Given the description of an element on the screen output the (x, y) to click on. 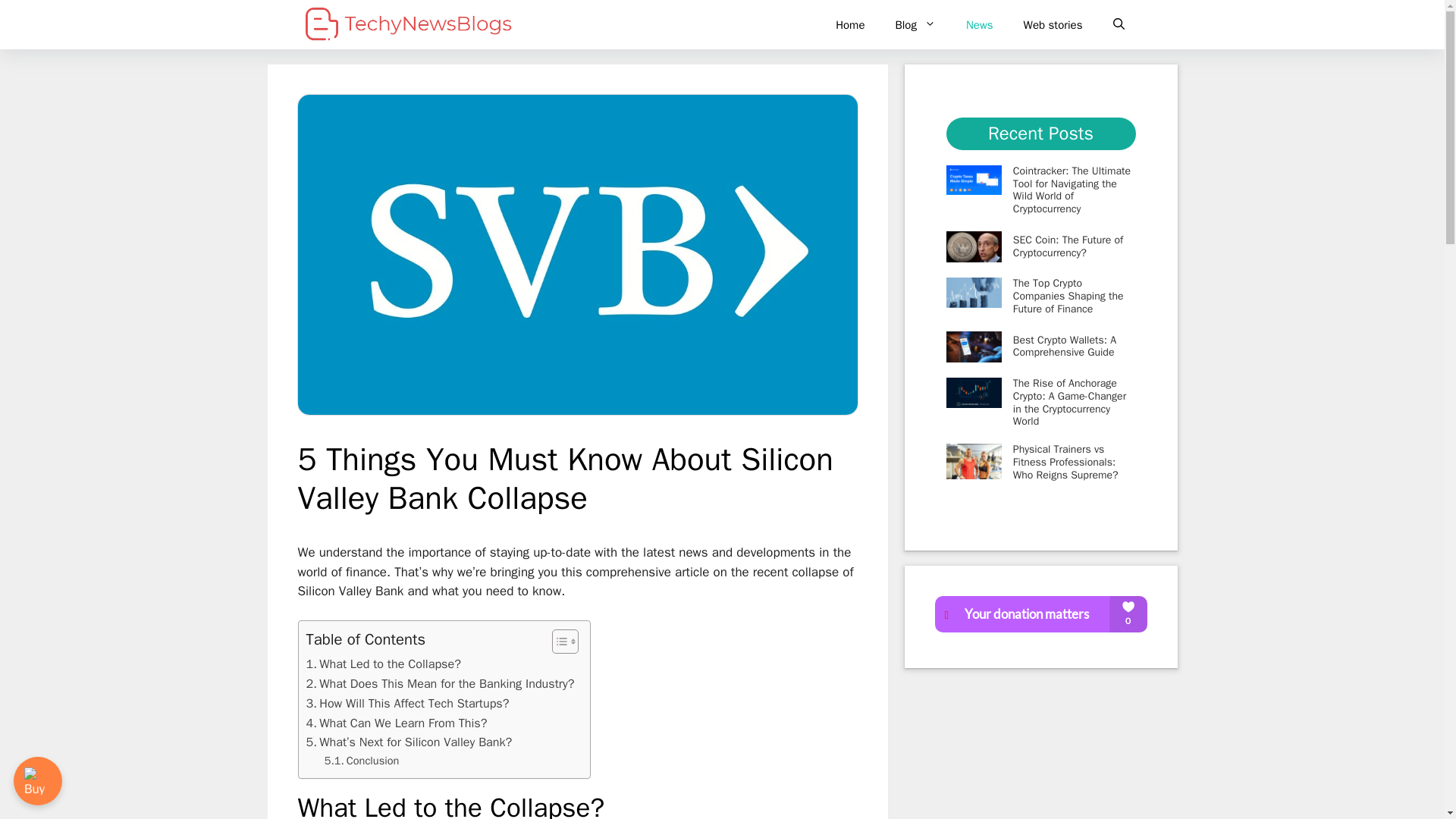
Best Crypto Wallets: A Comprehensive Guide (1064, 346)
SEC Coin: The Future of Cryptocurrency? (1067, 246)
News (979, 23)
How Will This Affect Tech Startups? (407, 703)
Home (850, 23)
What Can We Learn From This? (396, 723)
What Can We Learn From This? (396, 723)
What Does This Mean for the Banking Industry? (440, 683)
Conclusion (361, 760)
Web stories (1053, 23)
What Led to the Collapse? (383, 664)
How Will This Affect Tech Startups? (407, 703)
The Top Crypto Companies Shaping the Future of Finance (1068, 295)
Conclusion (361, 760)
